Given the description of an element on the screen output the (x, y) to click on. 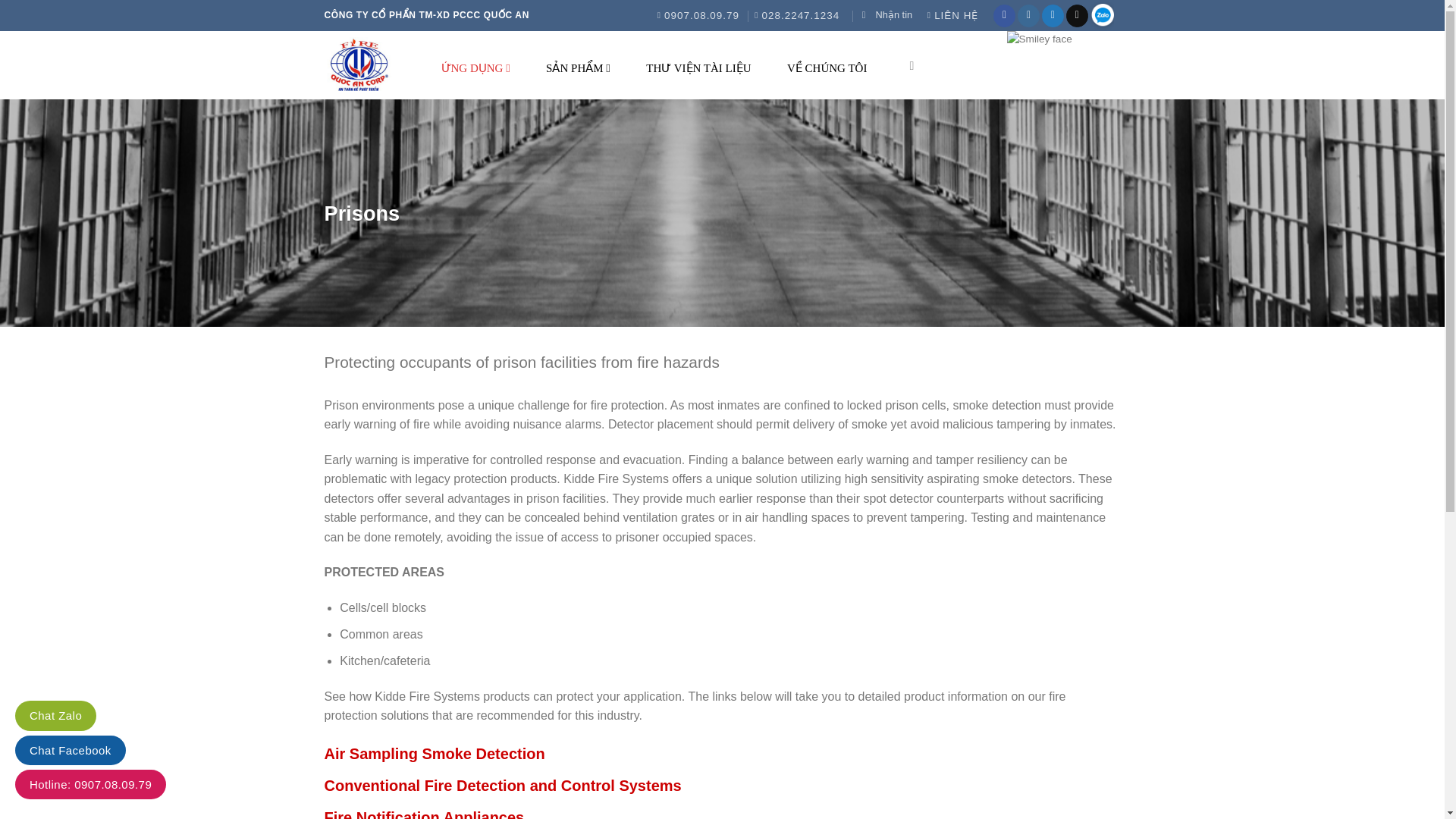
0907.08.09.79 (698, 15)
028.2247.1234 (797, 15)
